Given the description of an element on the screen output the (x, y) to click on. 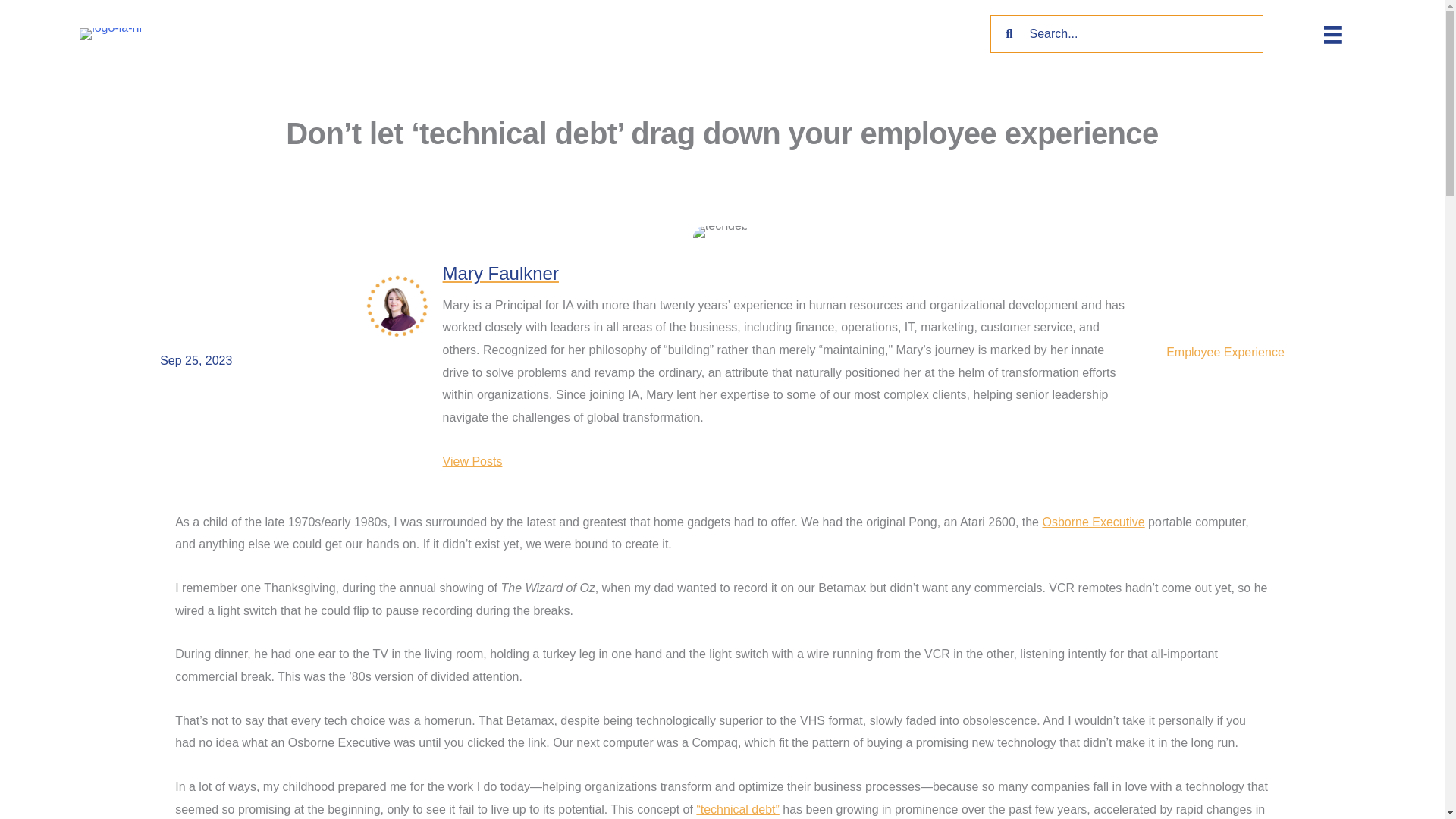
uabb-menu-toggle (1332, 34)
Osborne Executive (1093, 521)
Mary Faulkner (500, 272)
techdebt (722, 232)
View Posts (472, 461)
logo-ia-hr (111, 33)
